Given the description of an element on the screen output the (x, y) to click on. 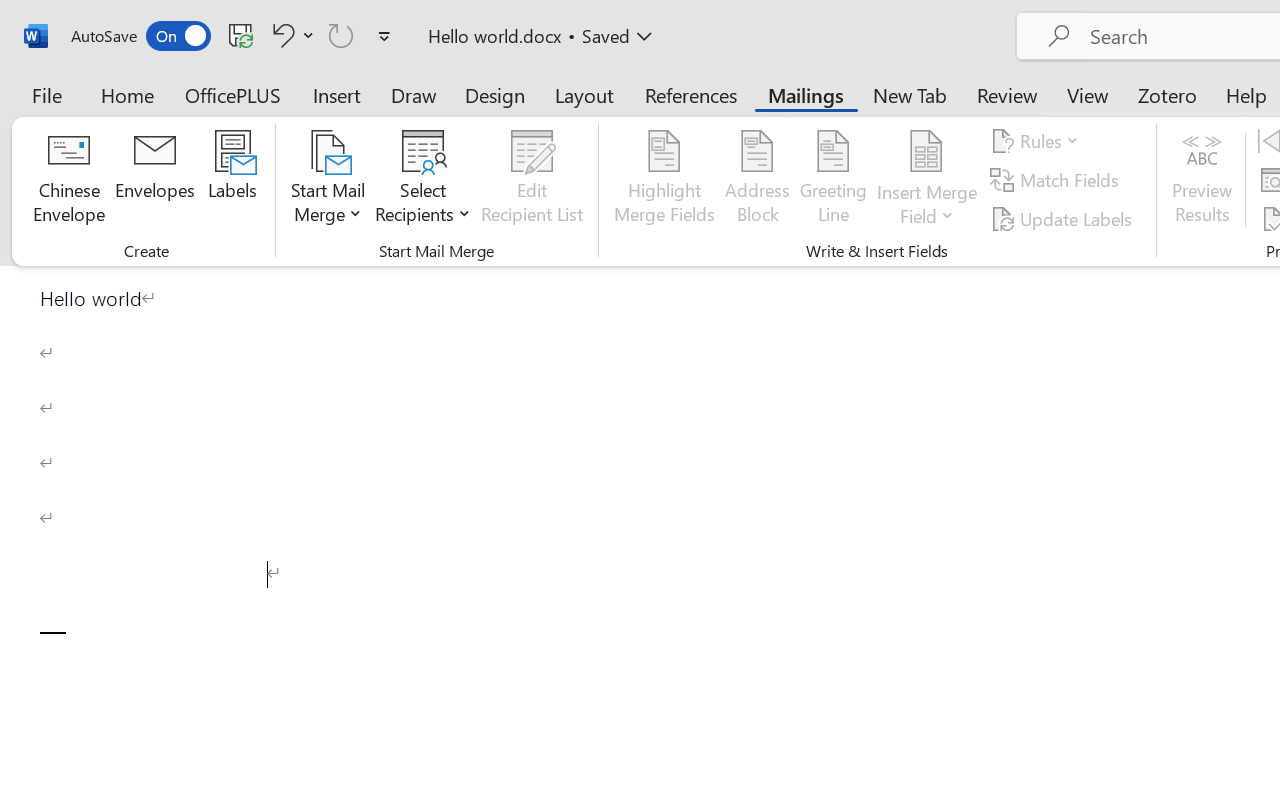
Insert (337, 94)
Save (241, 35)
Quick Access Toolbar (233, 36)
View (1087, 94)
Preview Results (1202, 179)
Insert Merge Field (927, 179)
Design (495, 94)
Mailings (806, 94)
New Tab (909, 94)
Draw (413, 94)
Edit Recipient List... (532, 179)
More Options (927, 208)
Review (1007, 94)
Chinese Envelope... (68, 179)
Home (127, 94)
